Given the description of an element on the screen output the (x, y) to click on. 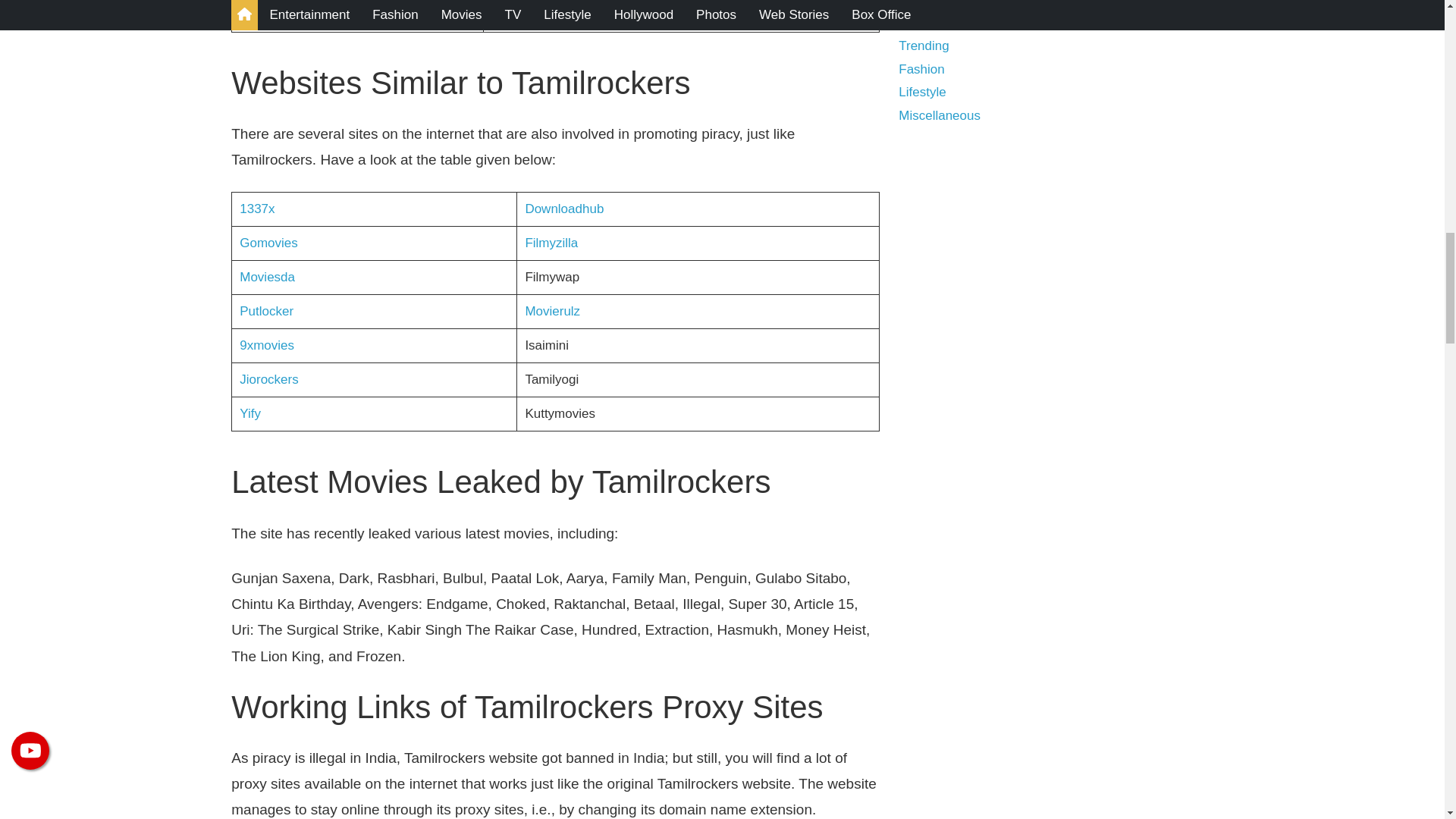
Filmyzilla (551, 242)
Putlocker (267, 310)
Gomovies (269, 242)
Moviesda (267, 277)
1337x (257, 208)
Movierulz (551, 310)
Downloadhub (564, 208)
